Given the description of an element on the screen output the (x, y) to click on. 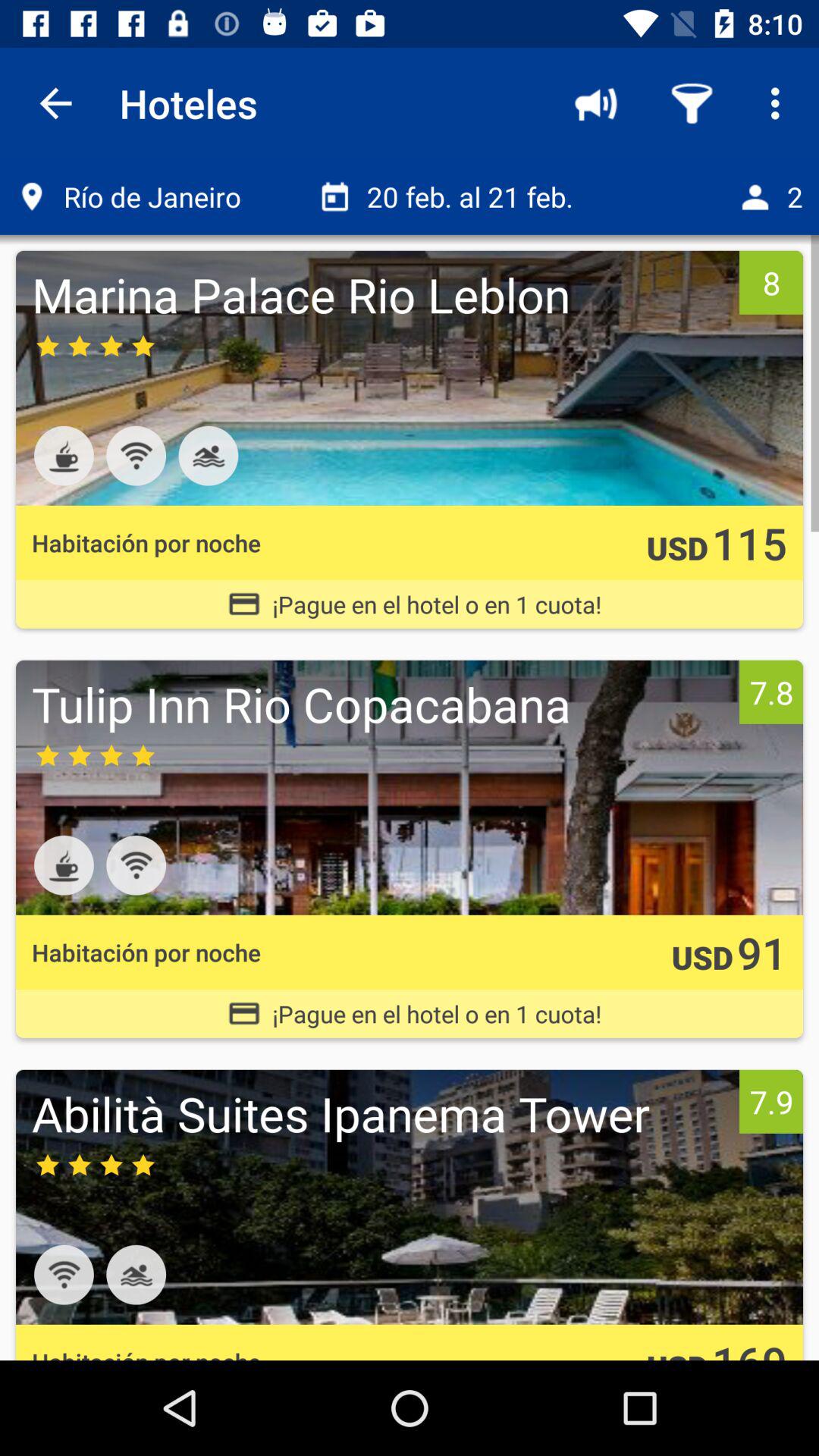
choose the 169 (749, 1346)
